Given the description of an element on the screen output the (x, y) to click on. 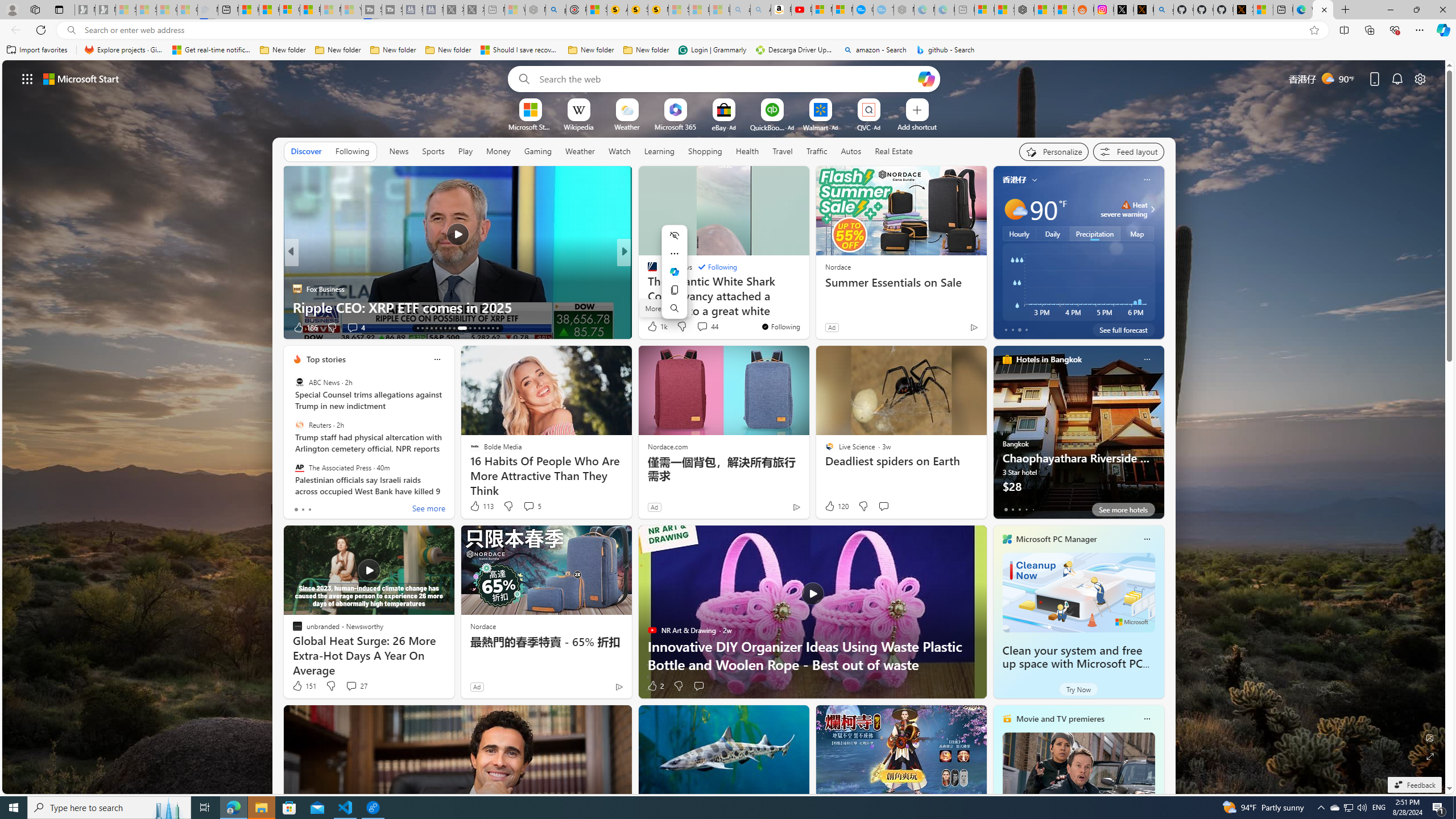
Login | Grammarly (712, 49)
View comments 44 Comment (701, 326)
Overview (289, 9)
tab-4 (1032, 509)
View comments 1 Comment (703, 327)
Tab actions menu (58, 9)
AutomationID: tab-18 (440, 328)
Weather (580, 151)
amazon - Search - Sleeping (740, 9)
21 Like (652, 327)
Autos (850, 151)
Gaming (537, 151)
